Given the description of an element on the screen output the (x, y) to click on. 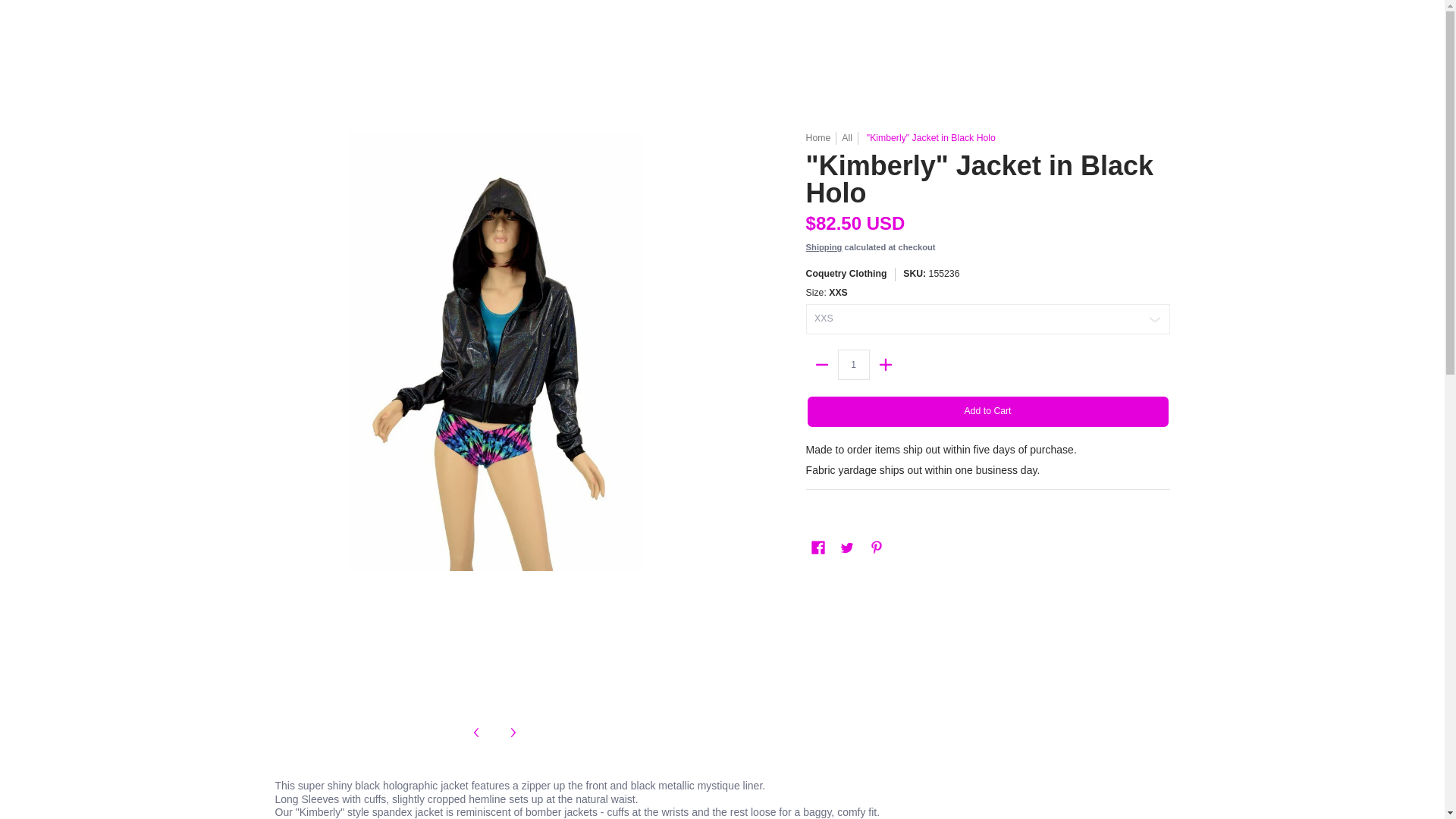
BQ (1099, 58)
CA (1067, 3)
1 (853, 364)
CV (1076, 28)
